Given the description of an element on the screen output the (x, y) to click on. 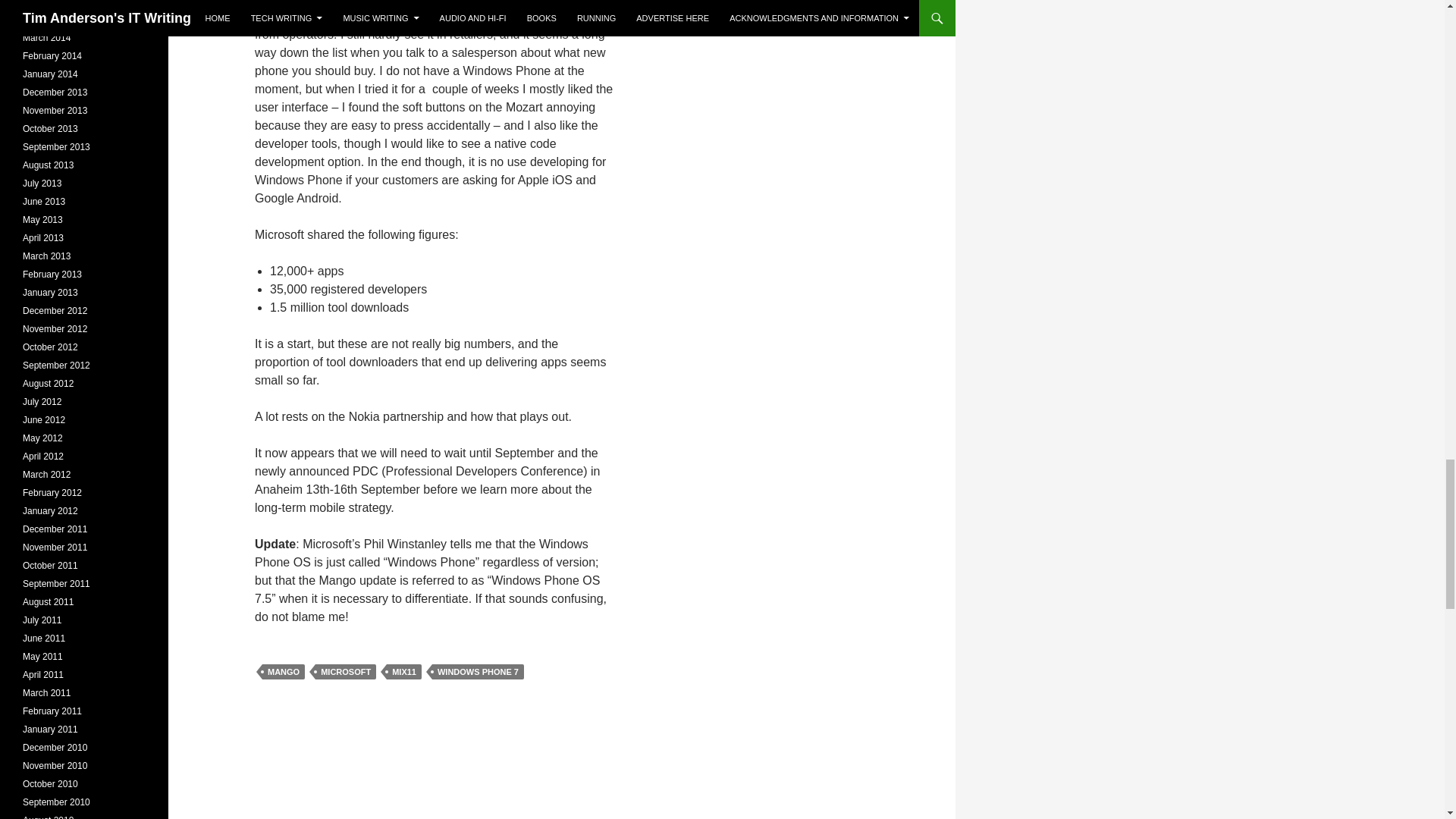
MIX11 (404, 671)
MICROSOFT (345, 671)
WINDOWS PHONE 7 (478, 671)
MANGO (283, 671)
